Given the description of an element on the screen output the (x, y) to click on. 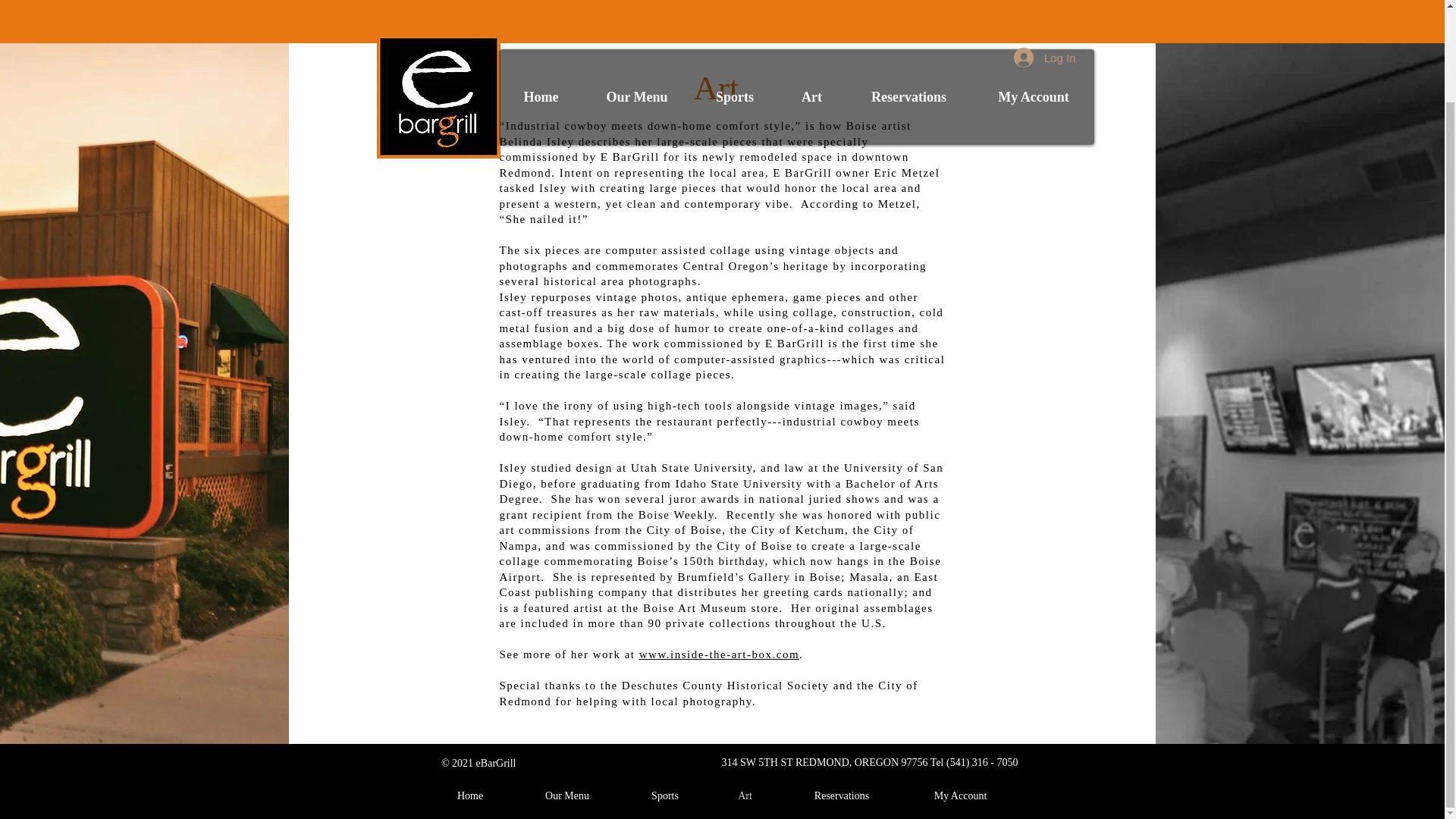
www.inside-the-art-box.com (719, 654)
My Account (1032, 19)
Our Menu (567, 795)
Sports (733, 19)
Our Menu (636, 19)
Art (745, 795)
My Account (959, 795)
Home (540, 19)
Reservations (908, 19)
Sports (664, 795)
Home (469, 795)
Reservations (841, 795)
Art (810, 19)
